Given the description of an element on the screen output the (x, y) to click on. 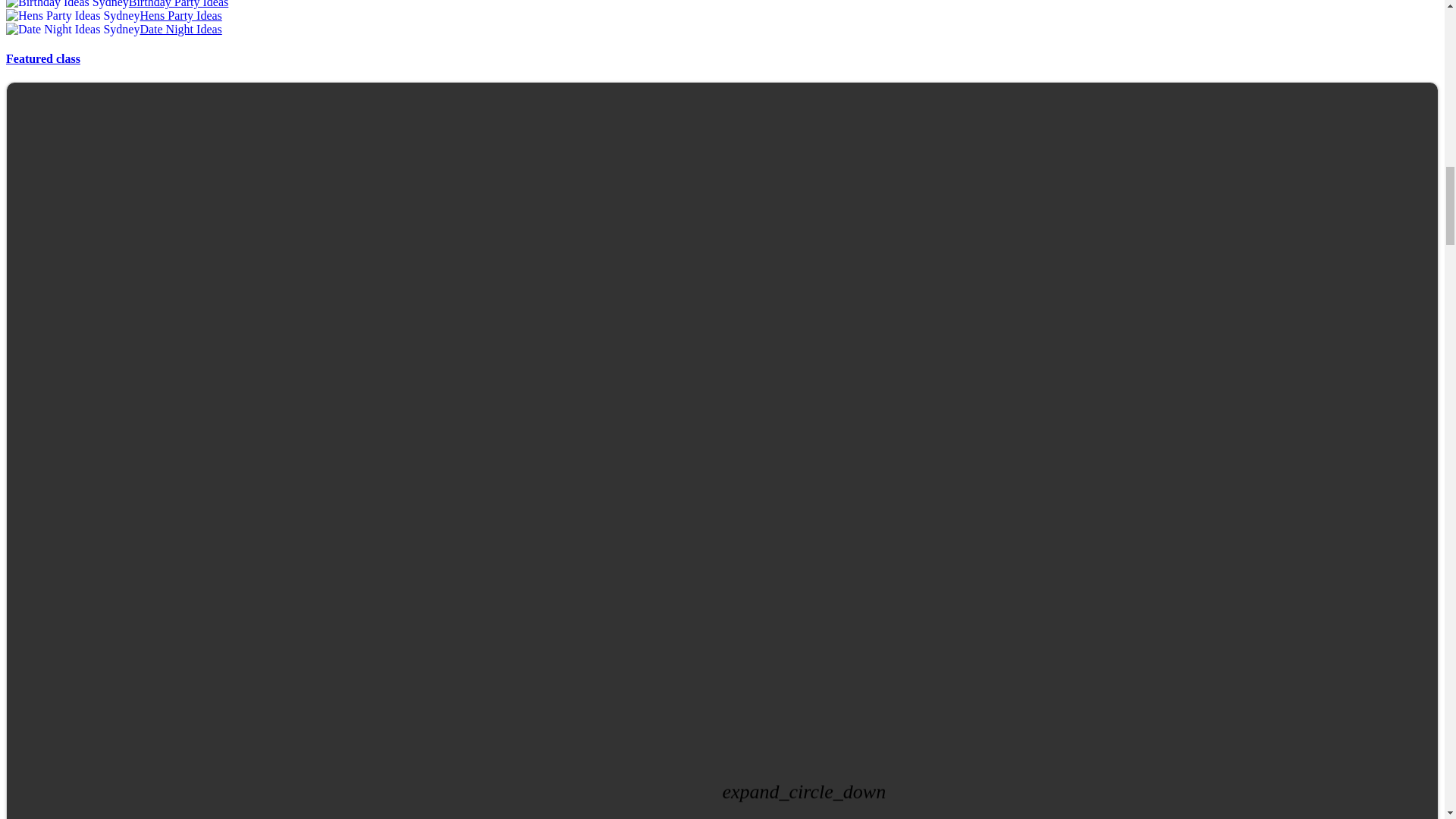
Featured class (42, 58)
